Given the description of an element on the screen output the (x, y) to click on. 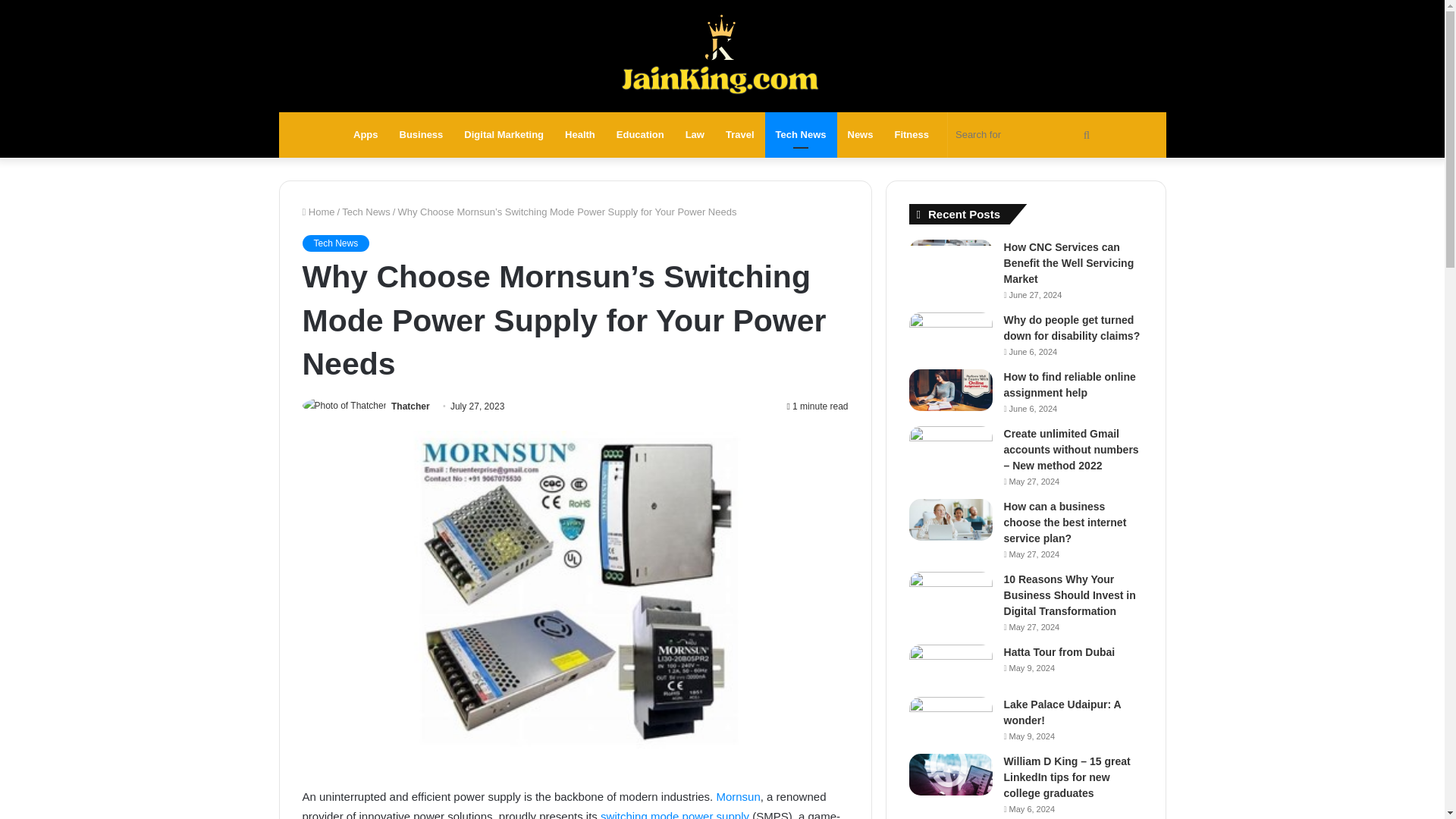
News (860, 135)
switching mode power supply (674, 814)
Education (640, 135)
Apps (365, 135)
Home (317, 211)
Business (421, 135)
Tech News (801, 135)
Health (579, 135)
Travel (739, 135)
Tech News (335, 243)
